Given the description of an element on the screen output the (x, y) to click on. 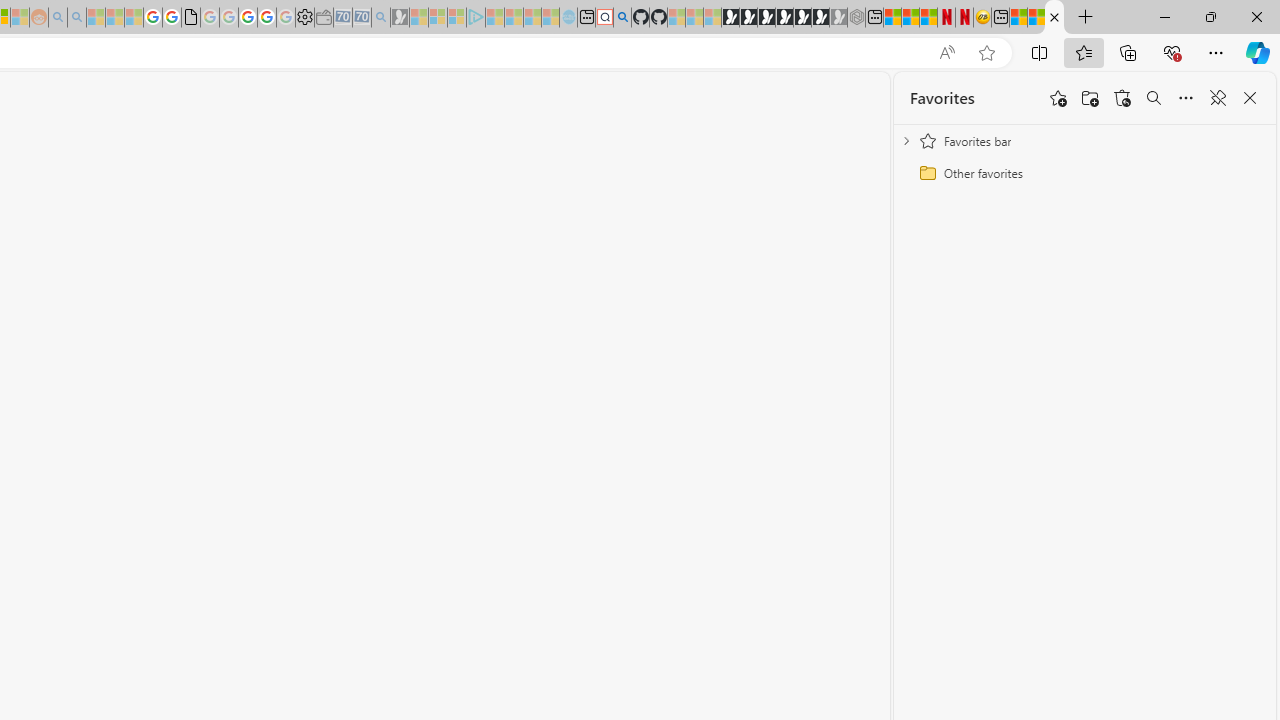
Wildlife - MSN (1017, 17)
Microsoft Start - Sleeping (532, 17)
Cheap Car Rentals - Save70.com - Sleeping (362, 17)
